Given the description of an element on the screen output the (x, y) to click on. 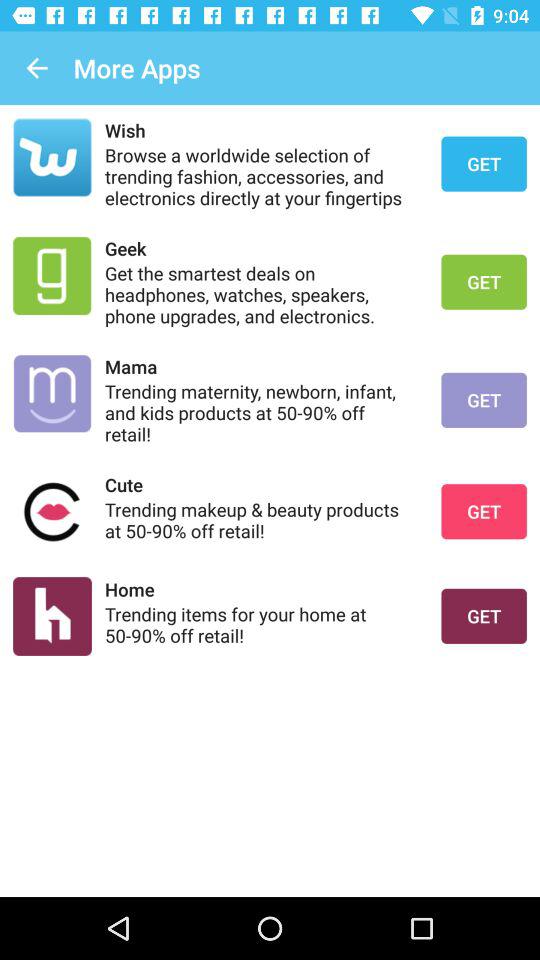
turn off the item to the left of get (260, 624)
